Given the description of an element on the screen output the (x, y) to click on. 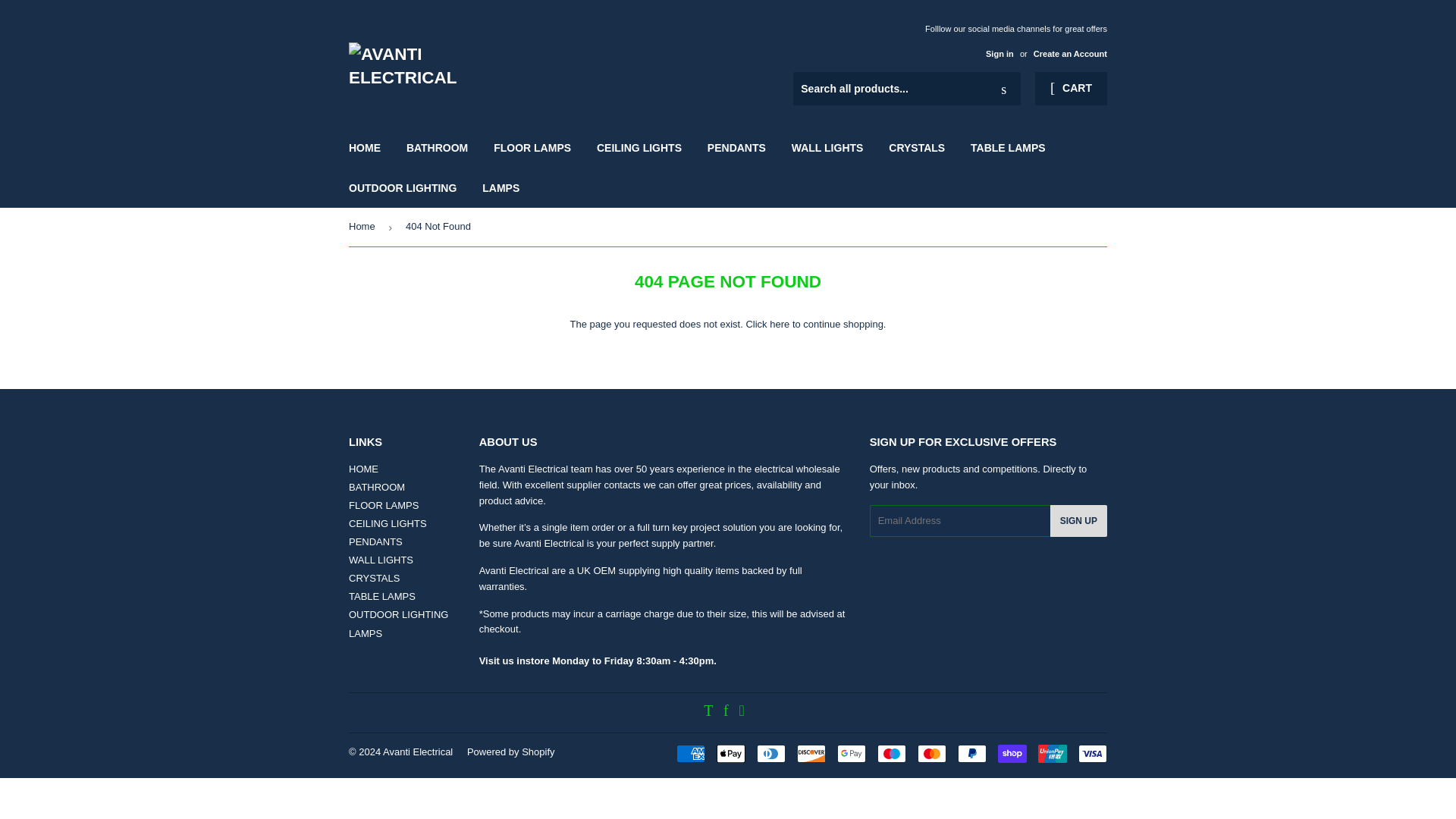
Shop Pay (1011, 753)
Visa (1092, 753)
Sign in (999, 53)
FLOOR LAMPS (384, 505)
CEILING LIGHTS (639, 147)
American Express (690, 753)
Maestro (891, 753)
WALL LIGHTS (381, 559)
Mastercard (931, 753)
PENDANTS (376, 541)
